Given the description of an element on the screen output the (x, y) to click on. 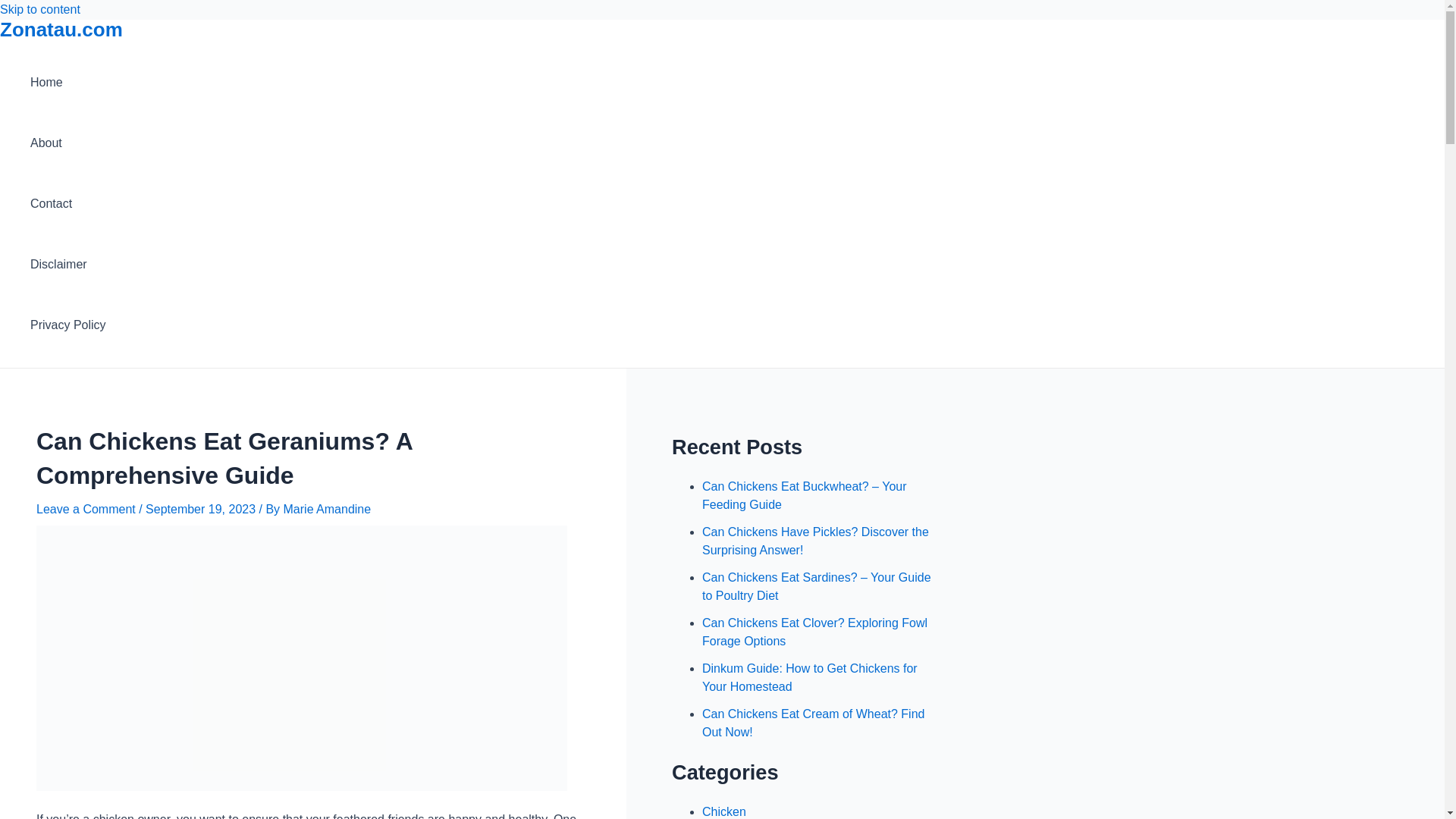
View all posts by Marie Amandine (327, 508)
About (68, 143)
Privacy Policy (68, 324)
Skip to content (40, 9)
Skip to content (40, 9)
Leave a Comment (85, 508)
Disclaimer (68, 264)
Home (68, 82)
Can Chickens Eat Clover? Exploring Fowl Forage Options (814, 631)
Chicken (723, 811)
Marie Amandine (327, 508)
Dinkum Guide: How to Get Chickens for Your Homestead (809, 676)
Can Chickens Eat Cream of Wheat? Find Out Now! (812, 722)
Contact (68, 203)
Can Chickens Have Pickles? Discover the Surprising Answer! (814, 540)
